Given the description of an element on the screen output the (x, y) to click on. 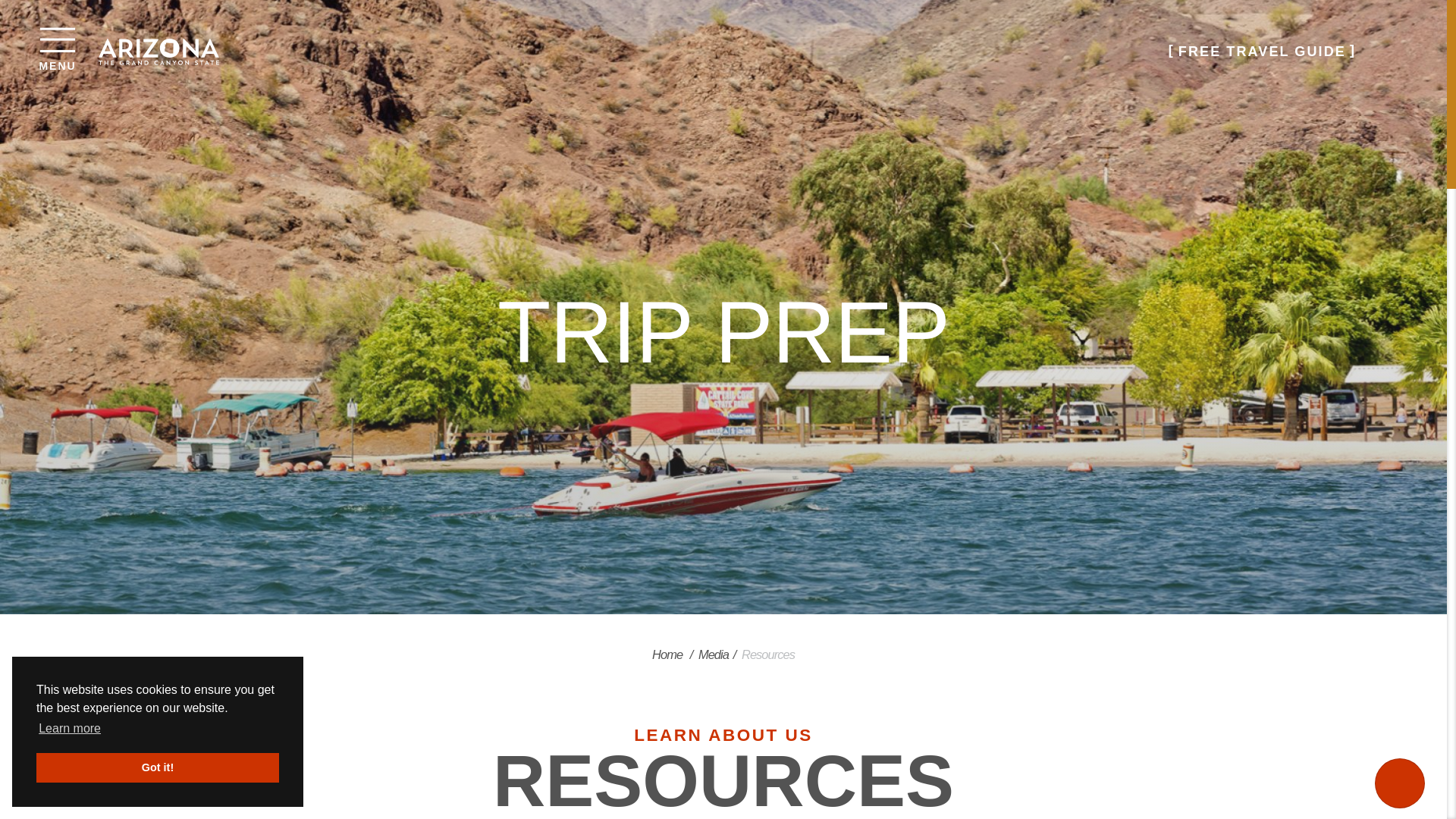
Link to Visit Arizona Homepage (159, 50)
Got it! (157, 767)
Link to Visit Arizona Homepage (159, 50)
Search Visit Arizona (1393, 51)
Search Visit Arizona (1393, 51)
Free Travel Guide (57, 43)
Visit Arizona Homepage (1262, 50)
Main menu (159, 50)
Learn more (57, 38)
FREE TRAVEL GUIDE (69, 728)
Skip to content (1262, 50)
